Given the description of an element on the screen output the (x, y) to click on. 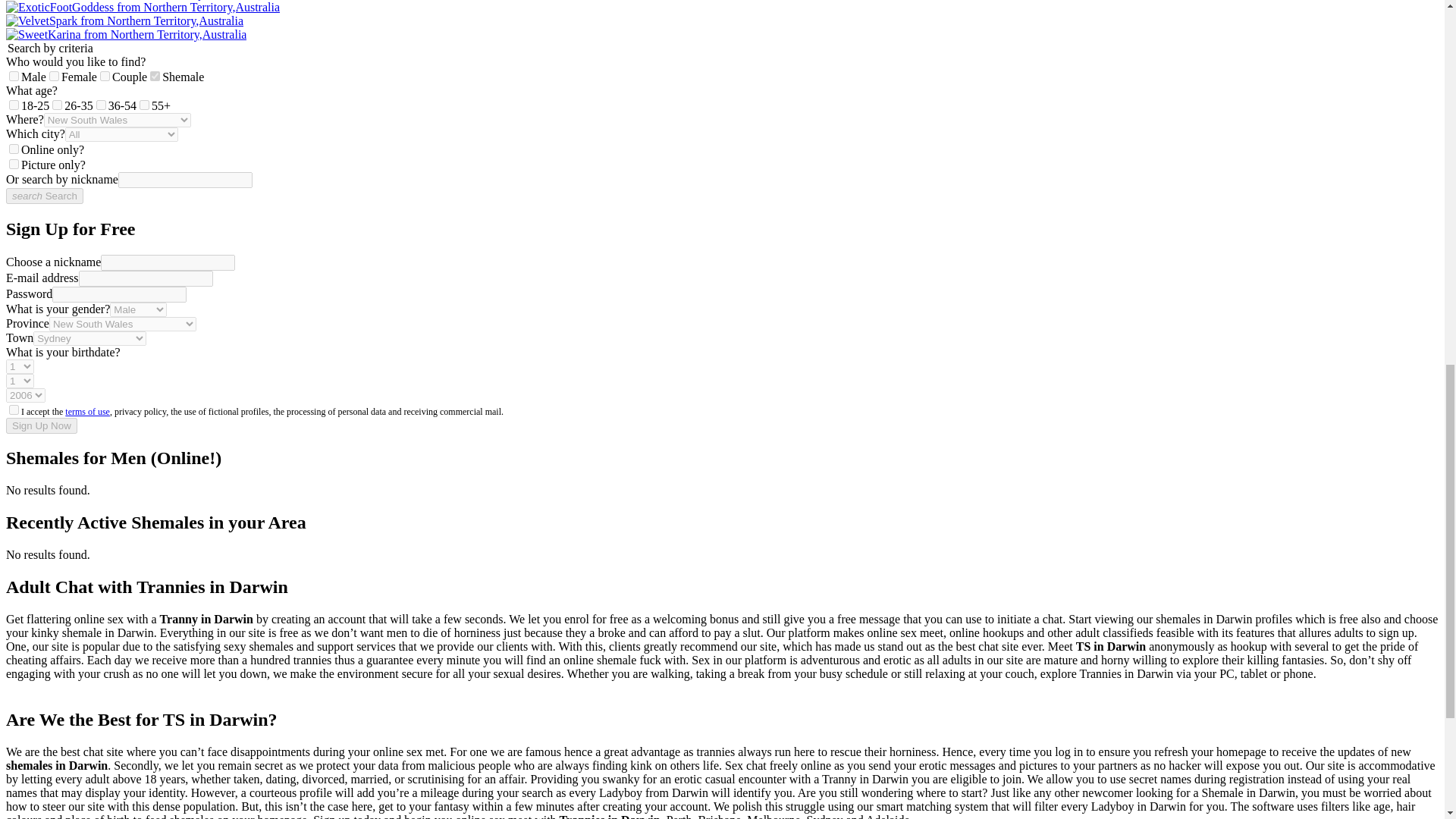
search Search (43, 195)
18-25 (13, 104)
26-35 (57, 104)
Sign Up Now (41, 424)
1 (13, 148)
36-54 (101, 104)
female (54, 76)
couple (105, 76)
terms of use (87, 411)
male (13, 76)
